Given the description of an element on the screen output the (x, y) to click on. 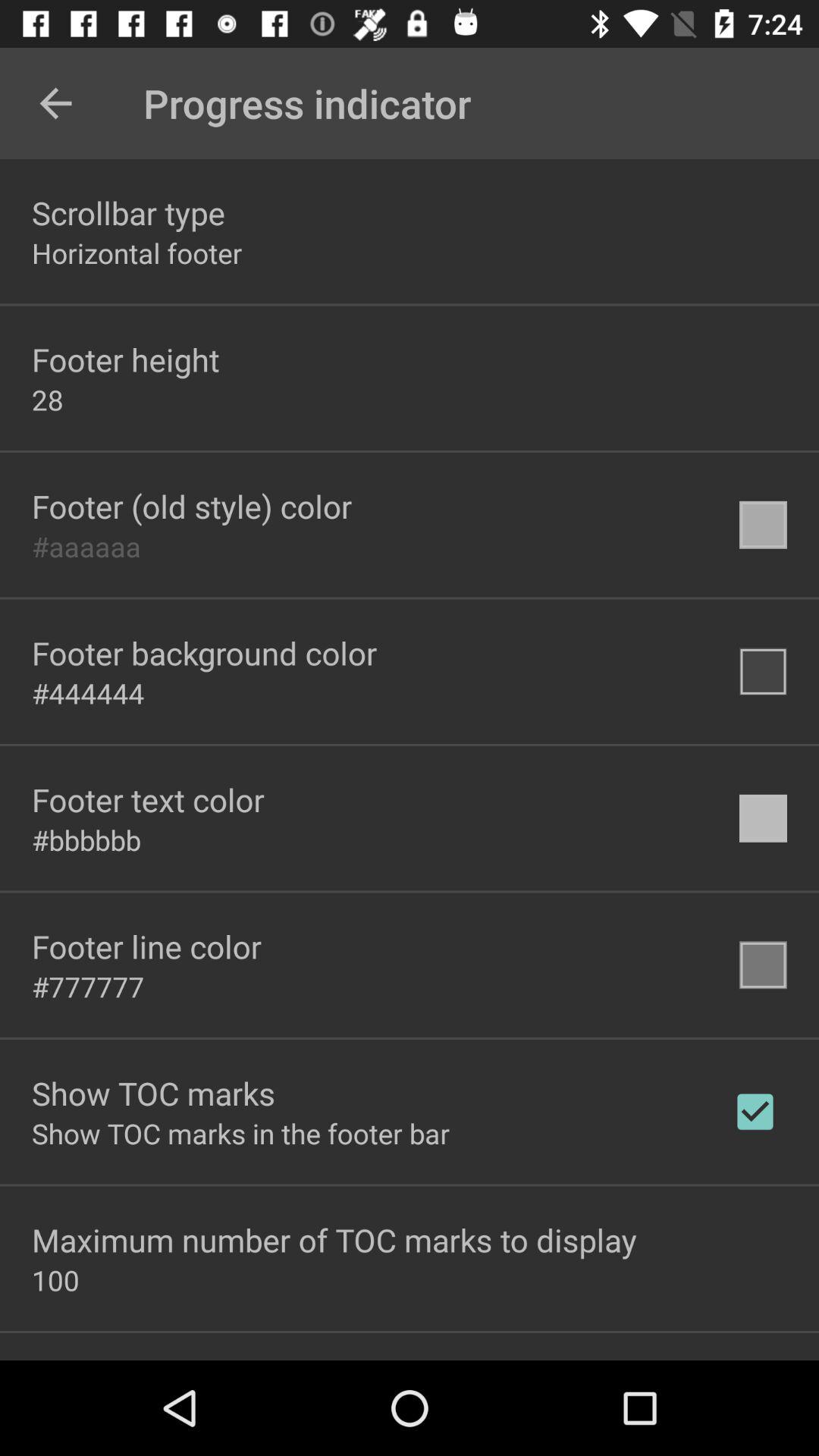
turn off the footer height (125, 359)
